Given the description of an element on the screen output the (x, y) to click on. 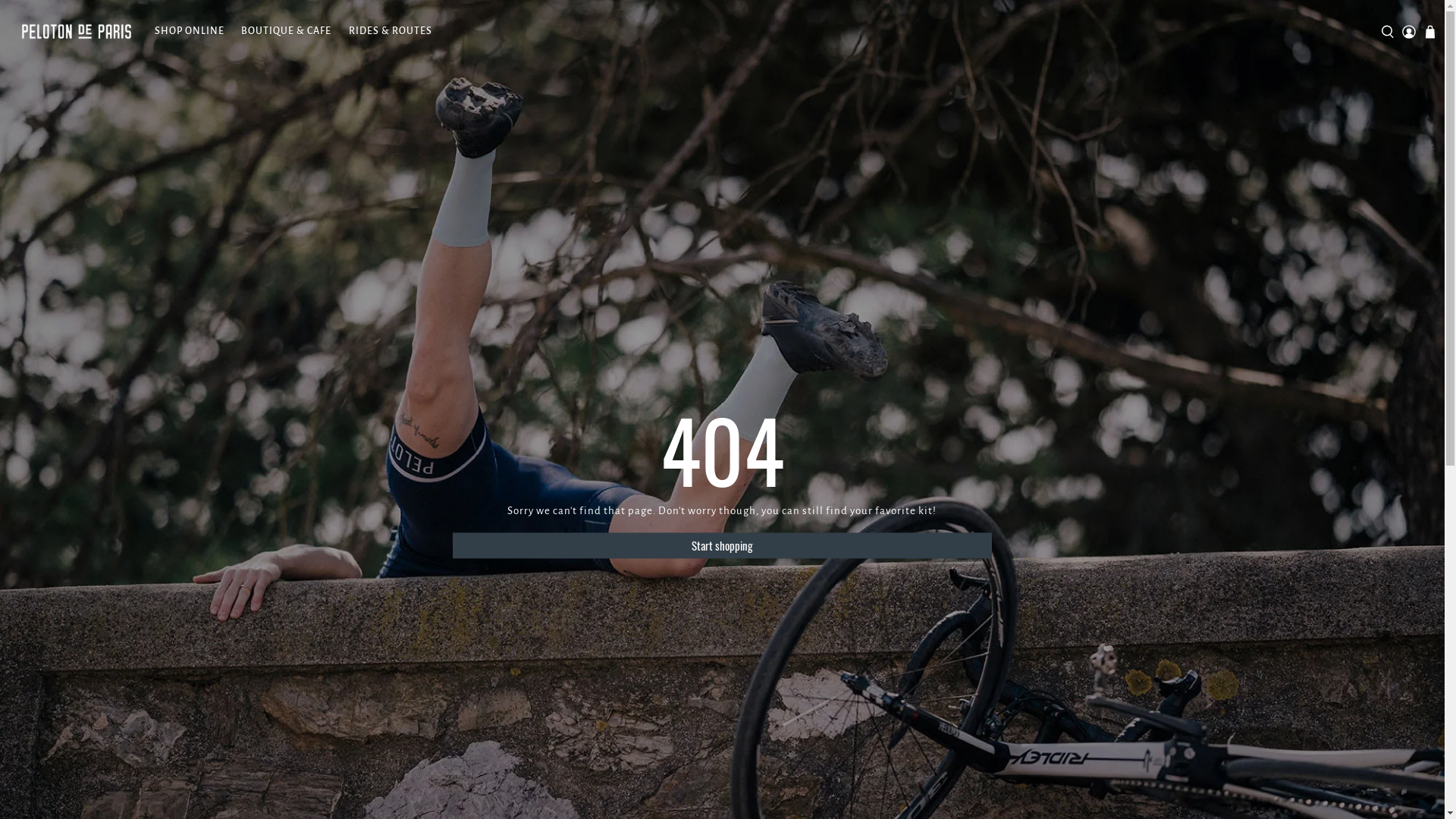
Start shopping Element type: text (721, 545)
BOUTIQUE & CAFE Element type: text (286, 31)
RIDES & ROUTES Element type: text (389, 31)
PELOTON DE PARIS Element type: hover (76, 31)
SHOP ONLINE Element type: text (188, 31)
